Given the description of an element on the screen output the (x, y) to click on. 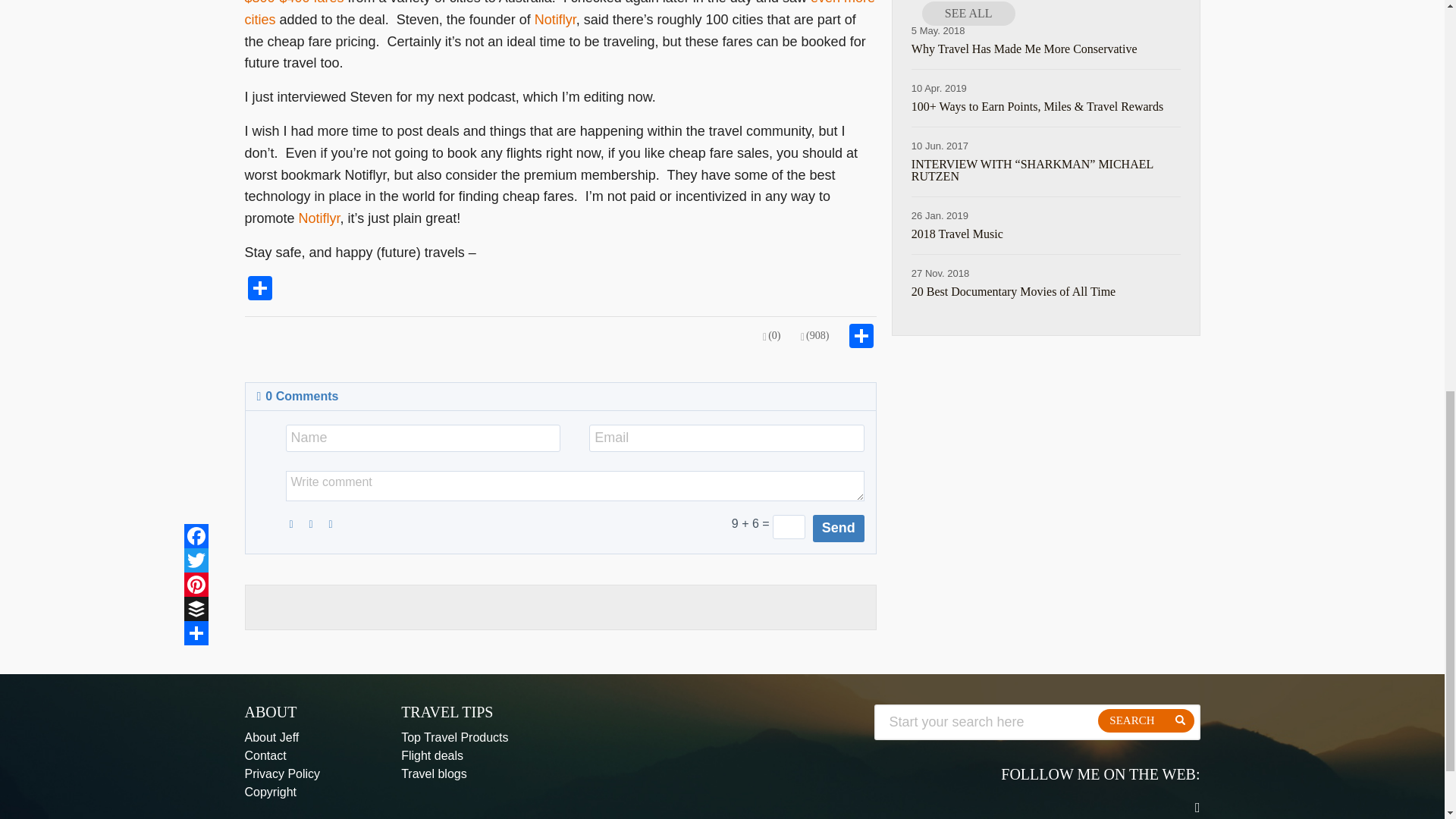
Insert video (316, 522)
Insert link (336, 522)
Notiflyr (555, 19)
0 Comments (296, 395)
Insert image (296, 522)
SEE ALL (967, 13)
Like (814, 336)
even more cities (559, 13)
Notiflyr (319, 218)
Send (838, 528)
